Given the description of an element on the screen output the (x, y) to click on. 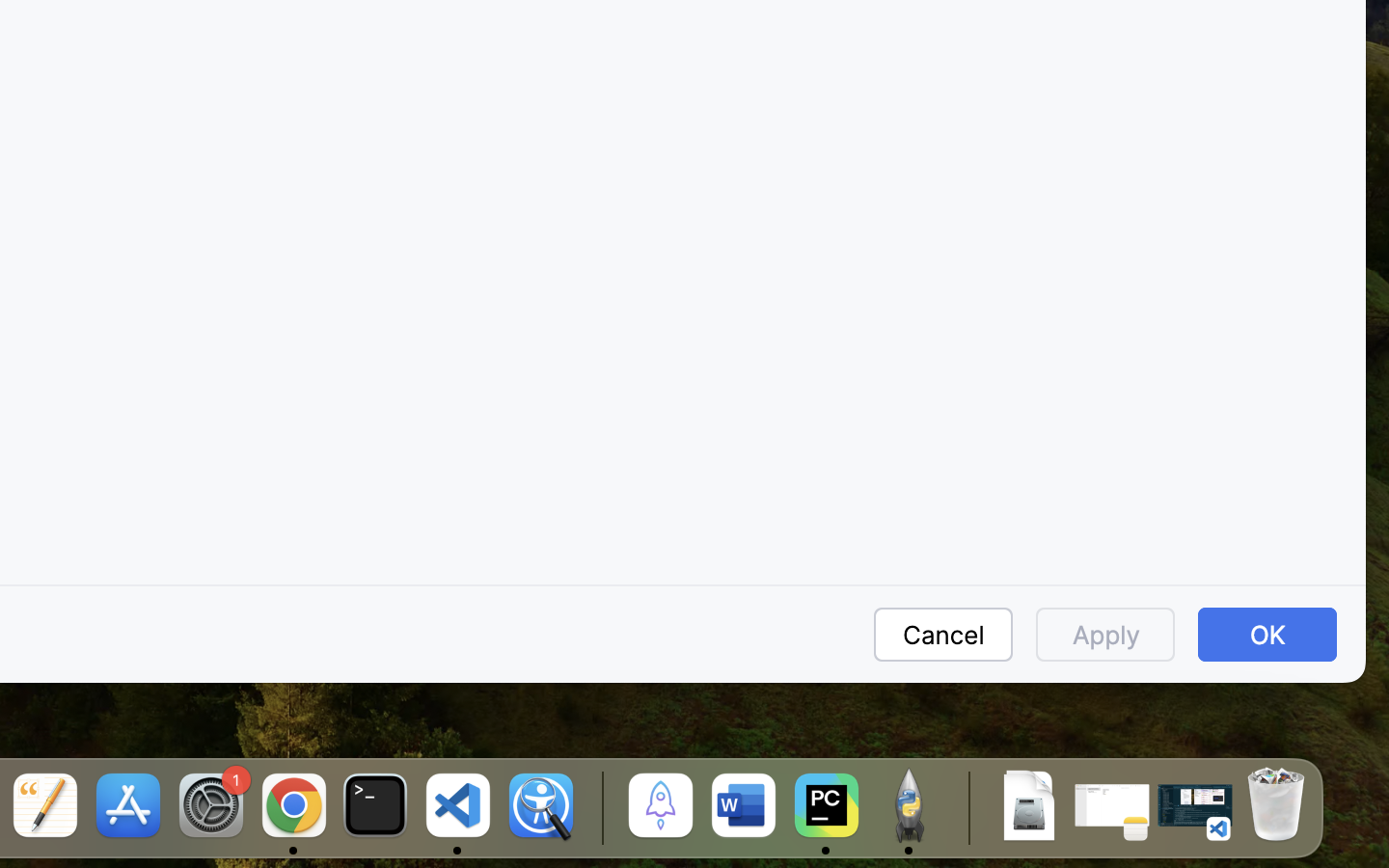
0.4285714328289032 Element type: AXDockItem (598, 807)
